Given the description of an element on the screen output the (x, y) to click on. 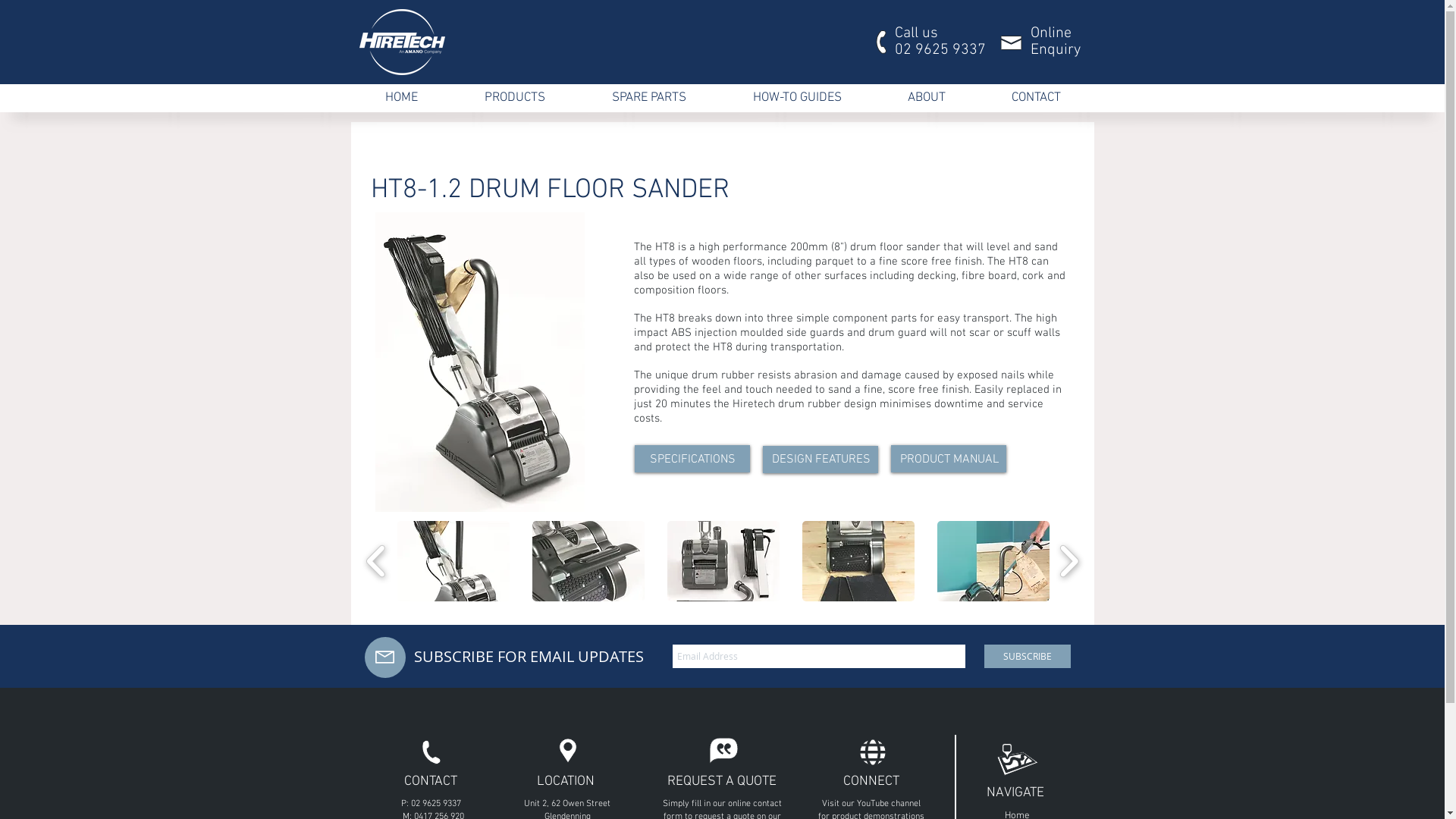
HOME Element type: text (401, 97)
PRODUCT MANUAL Element type: text (948, 458)
REQUEST A QUOTE Element type: text (721, 779)
Online
Enquiry Element type: text (1054, 39)
PRODUCTS Element type: text (513, 97)
DESIGN FEATURES Element type: text (820, 458)
SUBSCRIBE Element type: text (1027, 656)
SPECIFICATIONS Element type: text (691, 458)
CONTACT Element type: text (1035, 97)
HOW-TO GUIDES Element type: text (796, 97)
LOCATION Element type: text (565, 779)
Unit 2, 62 Owen Street Element type: text (567, 802)
SPARE PARTS Element type: text (647, 97)
ABOUT Element type: text (927, 97)
CONTACT Element type: text (429, 779)
CONNECT Element type: text (871, 779)
